Given the description of an element on the screen output the (x, y) to click on. 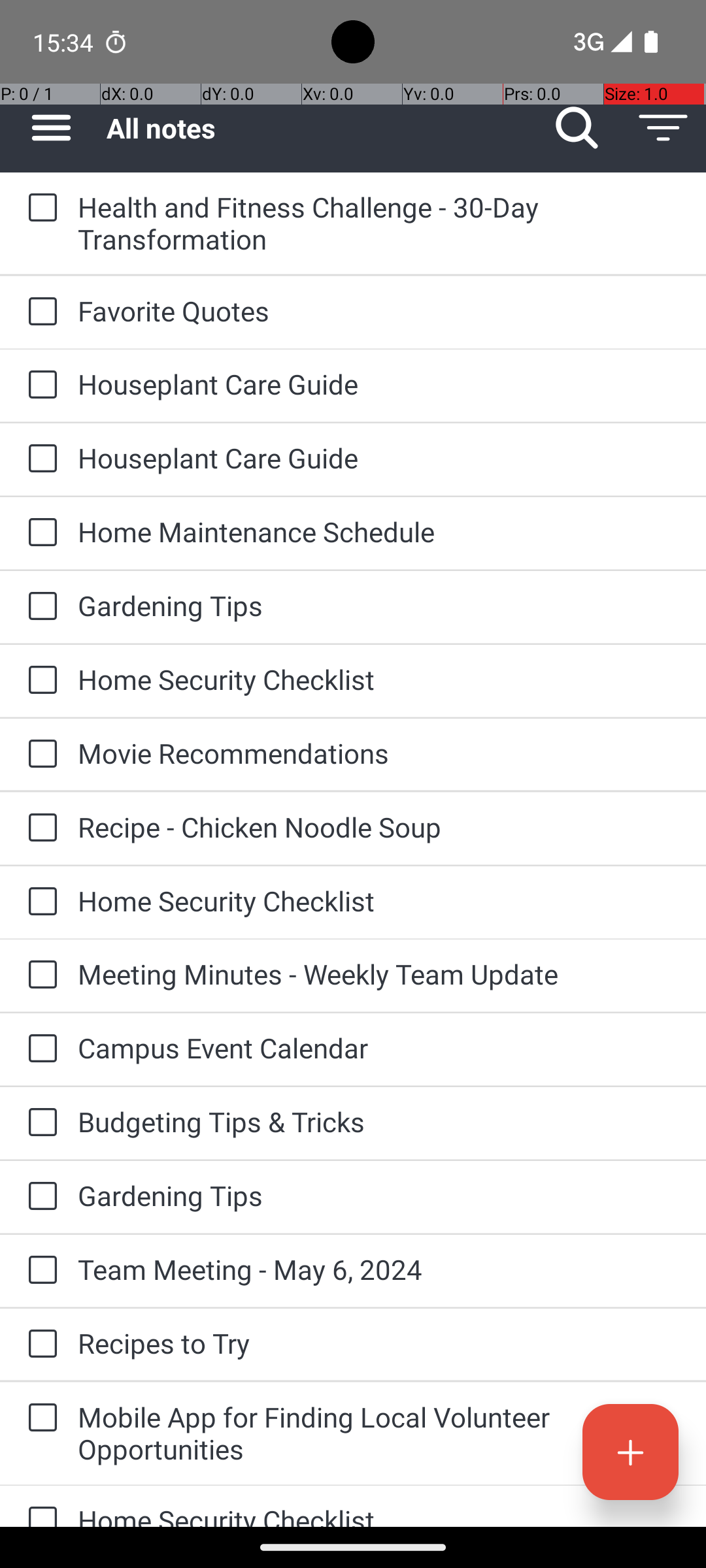
to-do: Health and Fitness Challenge - 30-Day Transformation Element type: android.widget.CheckBox (38, 208)
Health and Fitness Challenge - 30-Day Transformation Element type: android.widget.TextView (378, 222)
to-do: Favorite Quotes Element type: android.widget.CheckBox (38, 312)
Favorite Quotes Element type: android.widget.TextView (378, 310)
to-do: Houseplant Care Guide Element type: android.widget.CheckBox (38, 385)
Houseplant Care Guide Element type: android.widget.TextView (378, 383)
to-do: Gardening Tips Element type: android.widget.CheckBox (38, 606)
Gardening Tips Element type: android.widget.TextView (378, 604)
to-do: Home Security Checklist Element type: android.widget.CheckBox (38, 680)
Home Security Checklist Element type: android.widget.TextView (378, 678)
to-do: Movie Recommendations Element type: android.widget.CheckBox (38, 754)
Movie Recommendations Element type: android.widget.TextView (378, 752)
to-do: Recipe - Chicken Noodle Soup Element type: android.widget.CheckBox (38, 828)
Recipe - Chicken Noodle Soup Element type: android.widget.TextView (378, 826)
to-do: Meeting Minutes - Weekly Team Update Element type: android.widget.CheckBox (38, 975)
Meeting Minutes - Weekly Team Update Element type: android.widget.TextView (378, 973)
to-do: Campus Event Calendar Element type: android.widget.CheckBox (38, 1049)
Campus Event Calendar Element type: android.widget.TextView (378, 1047)
to-do: Team Meeting - May 6, 2024 Element type: android.widget.CheckBox (38, 1270)
Team Meeting - May 6, 2024 Element type: android.widget.TextView (378, 1268)
to-do: Recipes to Try Element type: android.widget.CheckBox (38, 1344)
Recipes to Try Element type: android.widget.TextView (378, 1342)
to-do: Mobile App for Finding Local Volunteer Opportunities Element type: android.widget.CheckBox (38, 1418)
Mobile App for Finding Local Volunteer Opportunities Element type: android.widget.TextView (378, 1432)
